Given the description of an element on the screen output the (x, y) to click on. 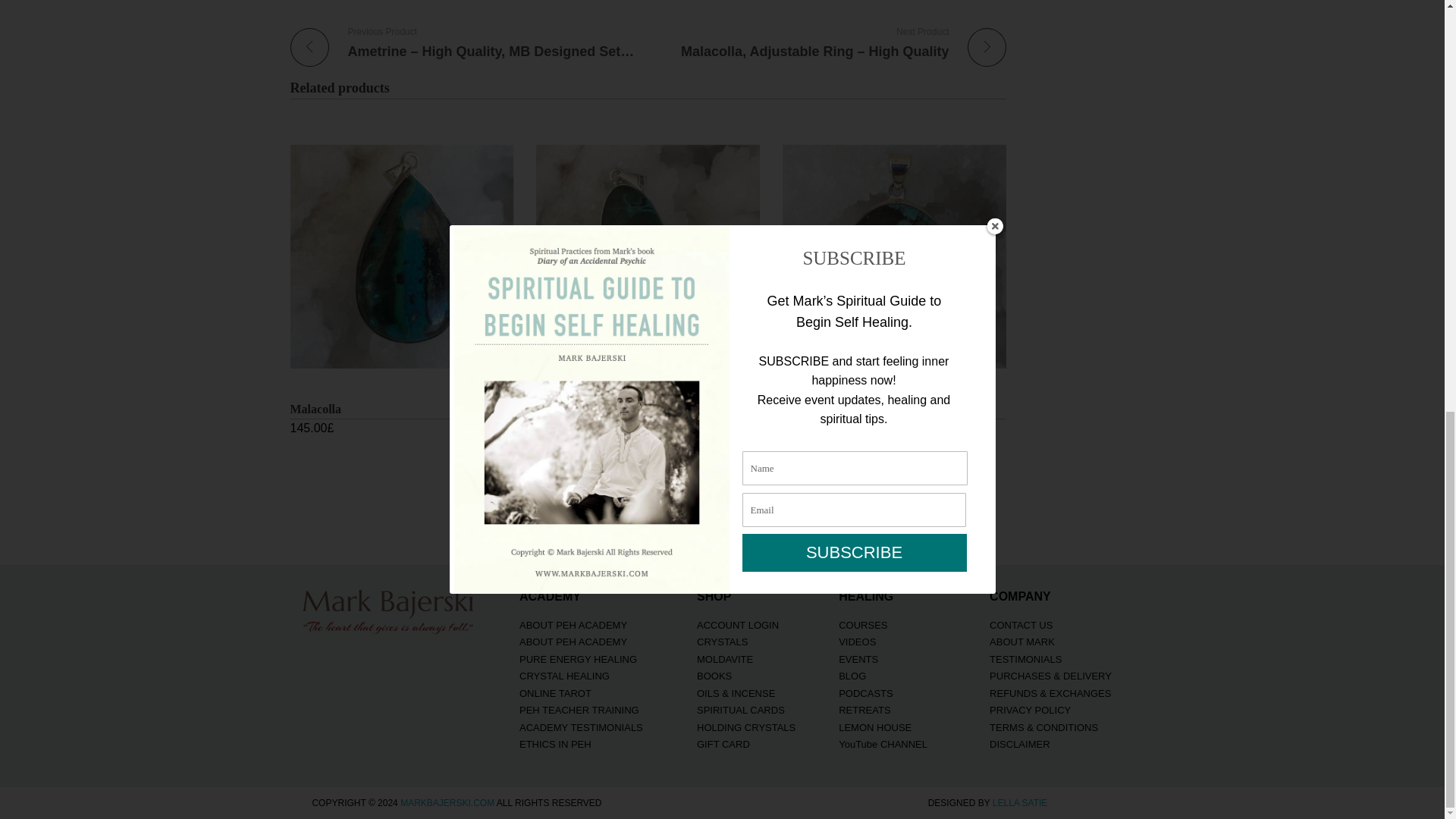
MBLogoTransparent (389, 609)
